Given the description of an element on the screen output the (x, y) to click on. 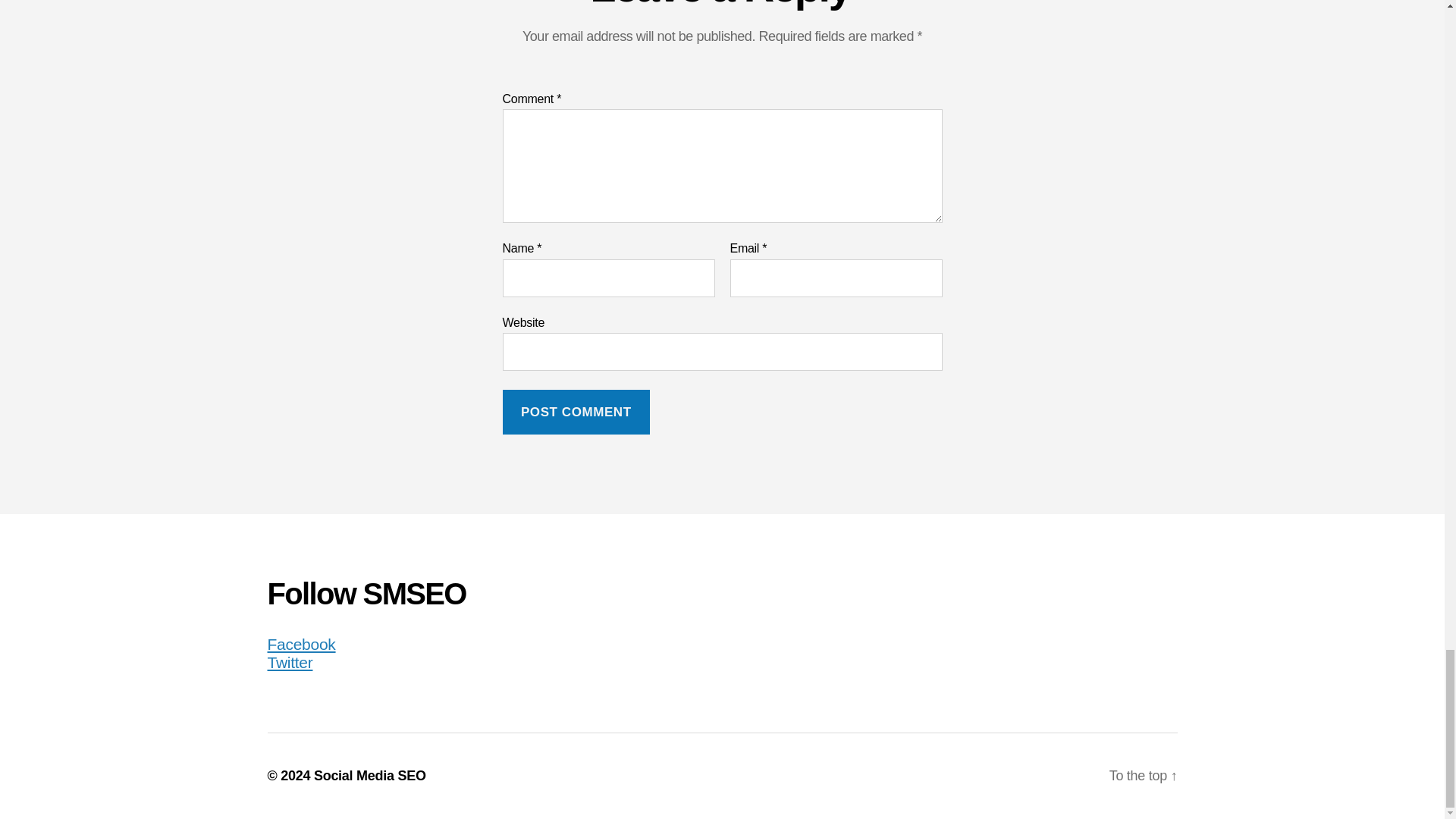
Post Comment (575, 411)
